Given the description of an element on the screen output the (x, y) to click on. 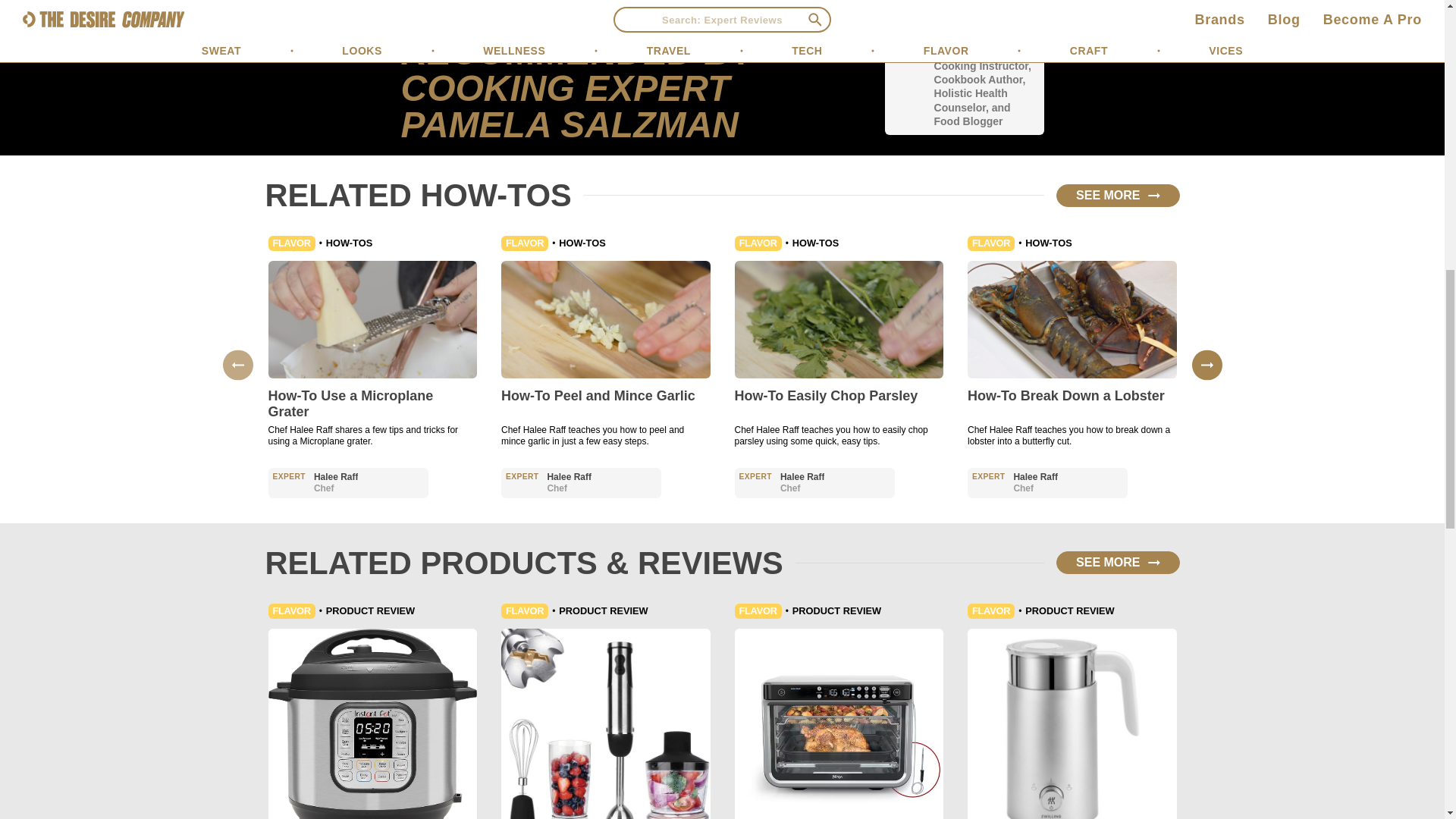
FLAVOR (291, 241)
SEE MORE (1118, 195)
HOW-TOS (349, 241)
